Given the description of an element on the screen output the (x, y) to click on. 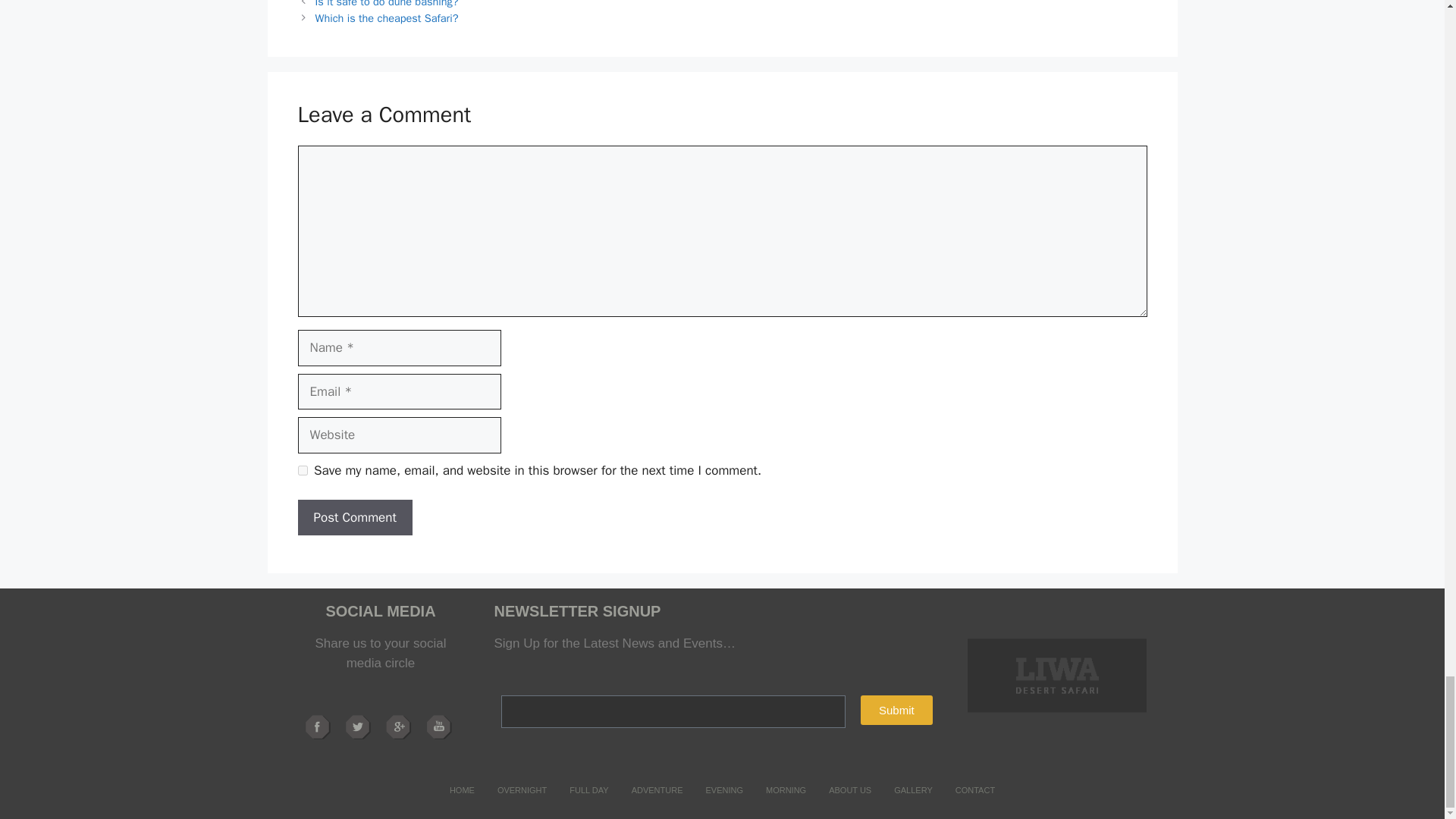
ADVENTURE (657, 790)
GALLERY (912, 790)
yes (302, 470)
Which is the cheapest Safari? (386, 17)
Post Comment (354, 517)
Post Comment (354, 517)
EVENING (724, 790)
HOME (462, 790)
MORNING (785, 790)
FULL DAY (588, 790)
ABOUT US (849, 790)
CONTACT (974, 790)
Submit (896, 709)
OVERNIGHT (521, 790)
Is it safe to do dune bashing? (386, 4)
